Given the description of an element on the screen output the (x, y) to click on. 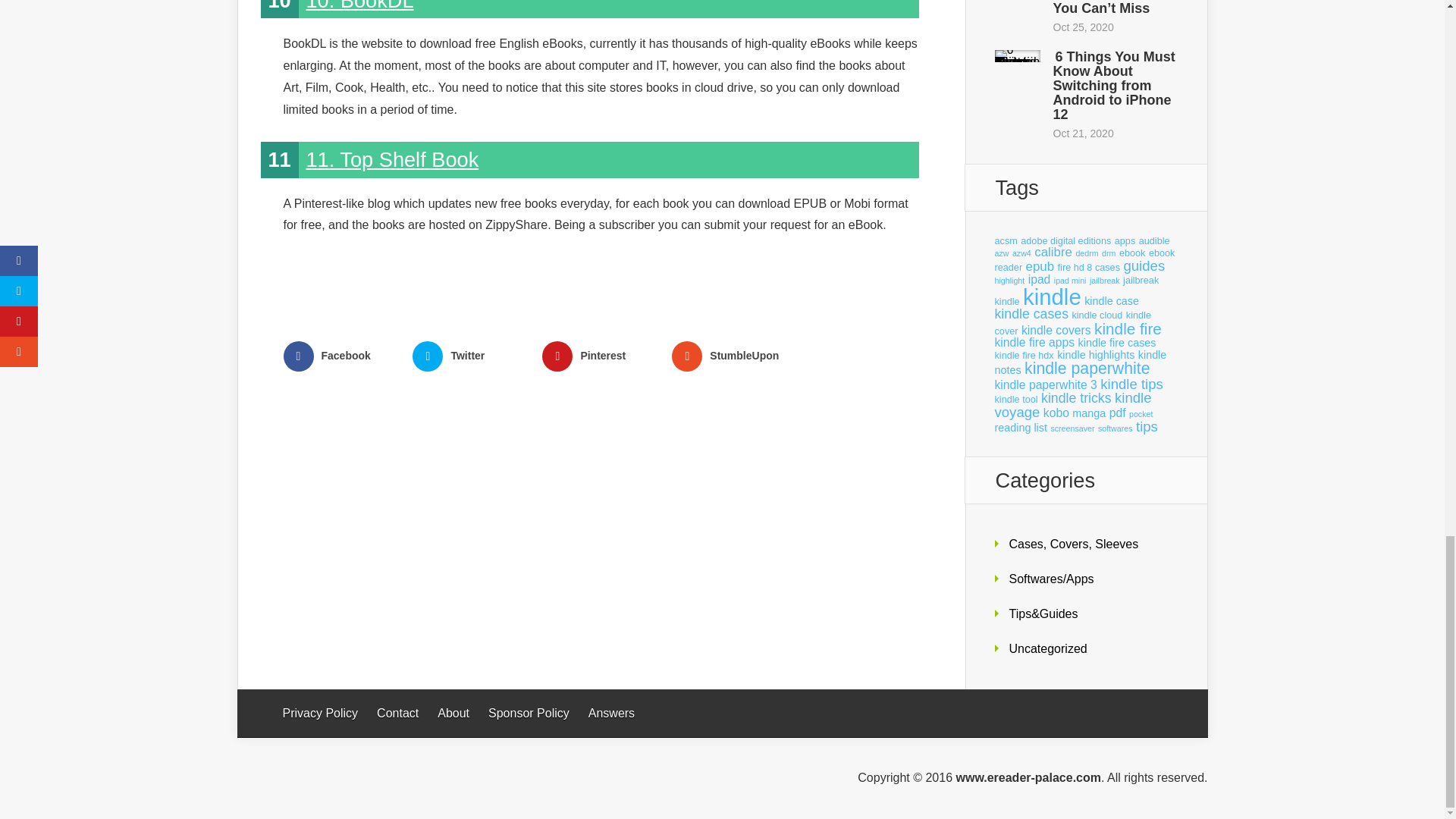
StumbleUpon (730, 356)
10. BookDL (359, 6)
Twitter (470, 356)
11. Top Shelf Book (392, 159)
Facebook (341, 356)
Pinterest (600, 356)
